Given the description of an element on the screen output the (x, y) to click on. 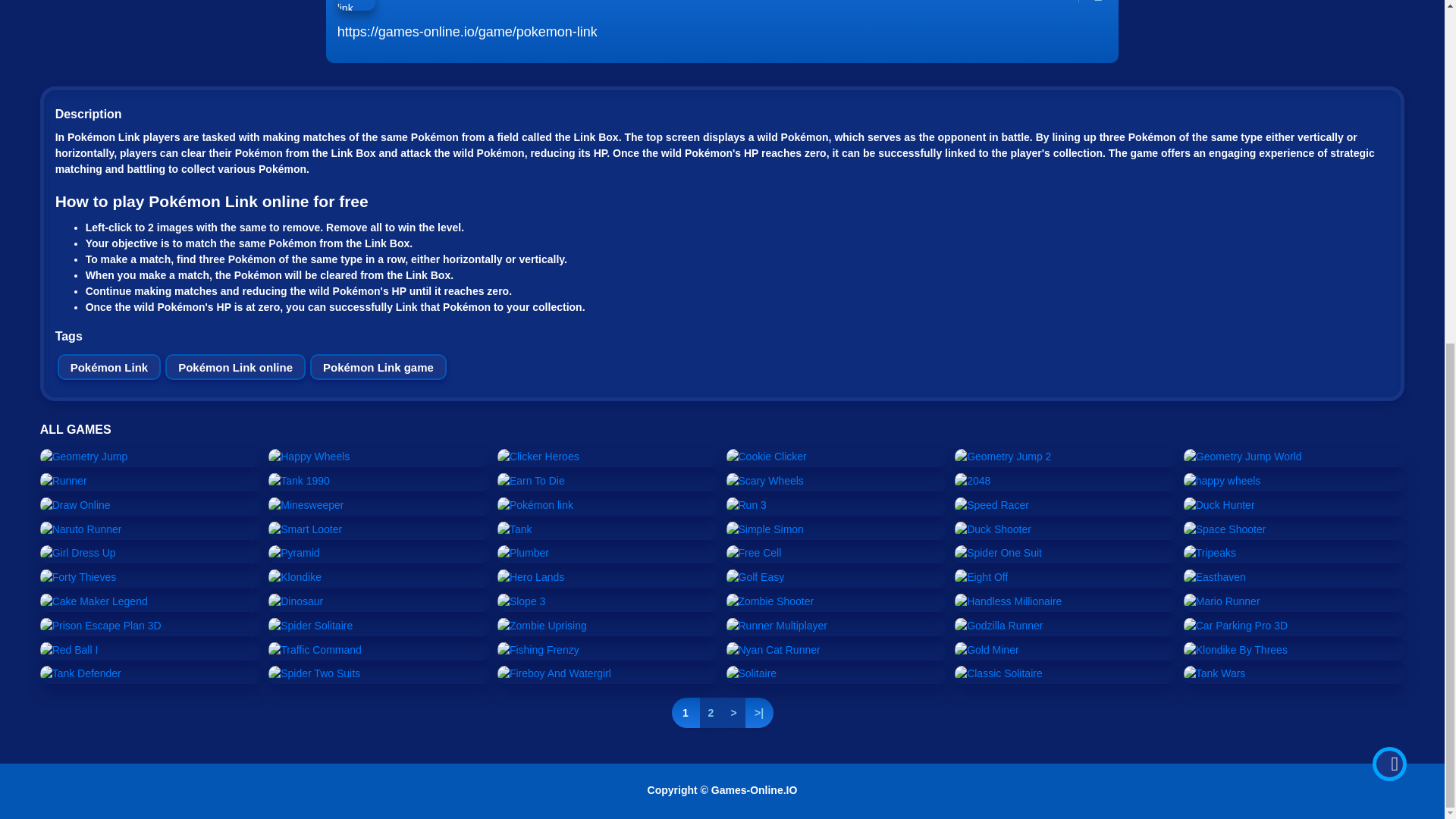
Cookie Clicker (766, 456)
Clicker Heroes (538, 456)
Happy Wheels (308, 456)
Geometry Jump 2 (1003, 456)
Geometry Jump (84, 456)
